Given the description of an element on the screen output the (x, y) to click on. 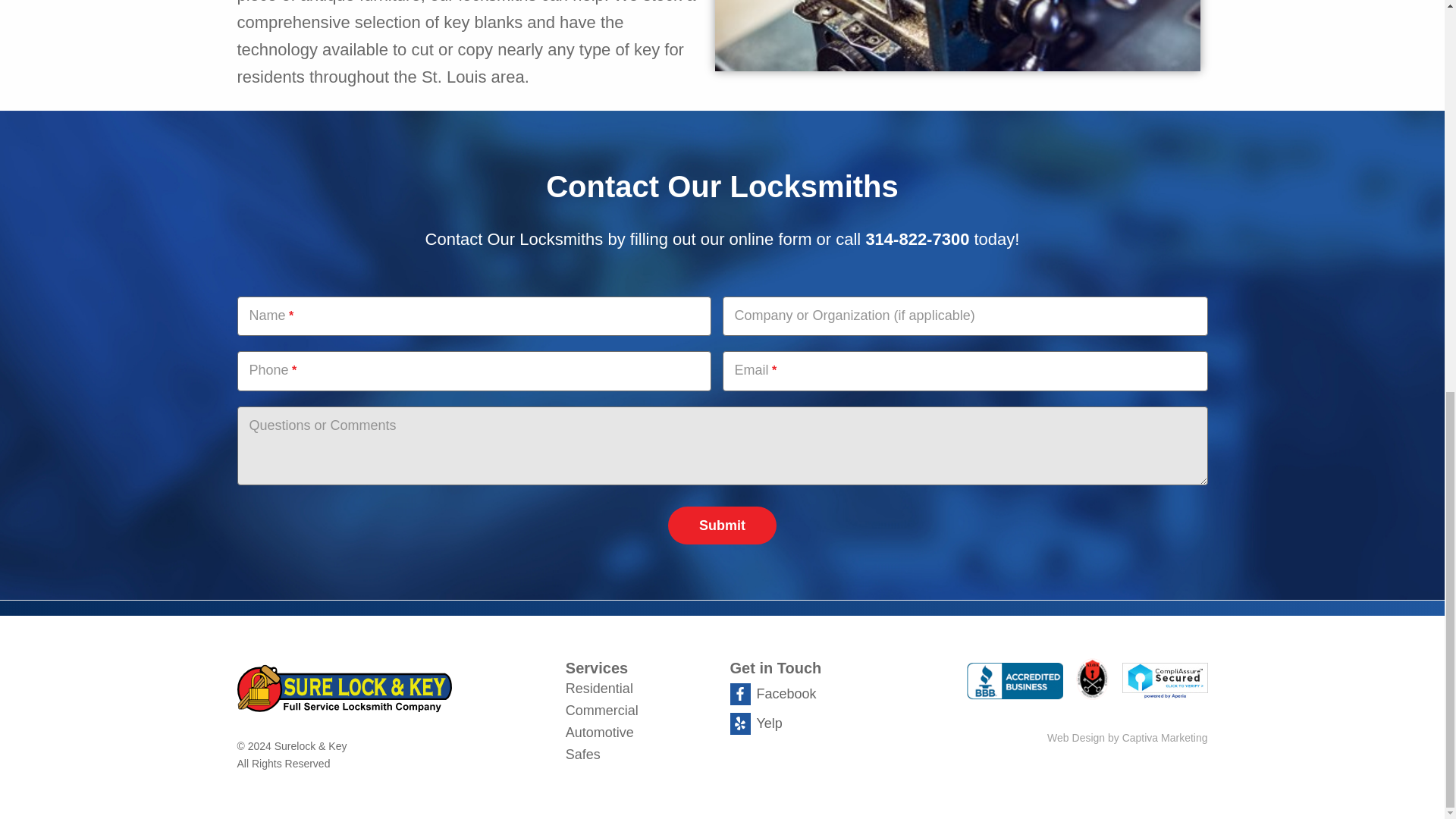
Safes (582, 754)
Automotive (599, 732)
Opens in New Window (1014, 683)
Residential (599, 687)
Opens in New Window (1165, 683)
Submit (722, 524)
Yelp (755, 723)
Captiva Marketing (1126, 737)
Surelock and Key Home Page (392, 687)
Facebook (772, 694)
